Given the description of an element on the screen output the (x, y) to click on. 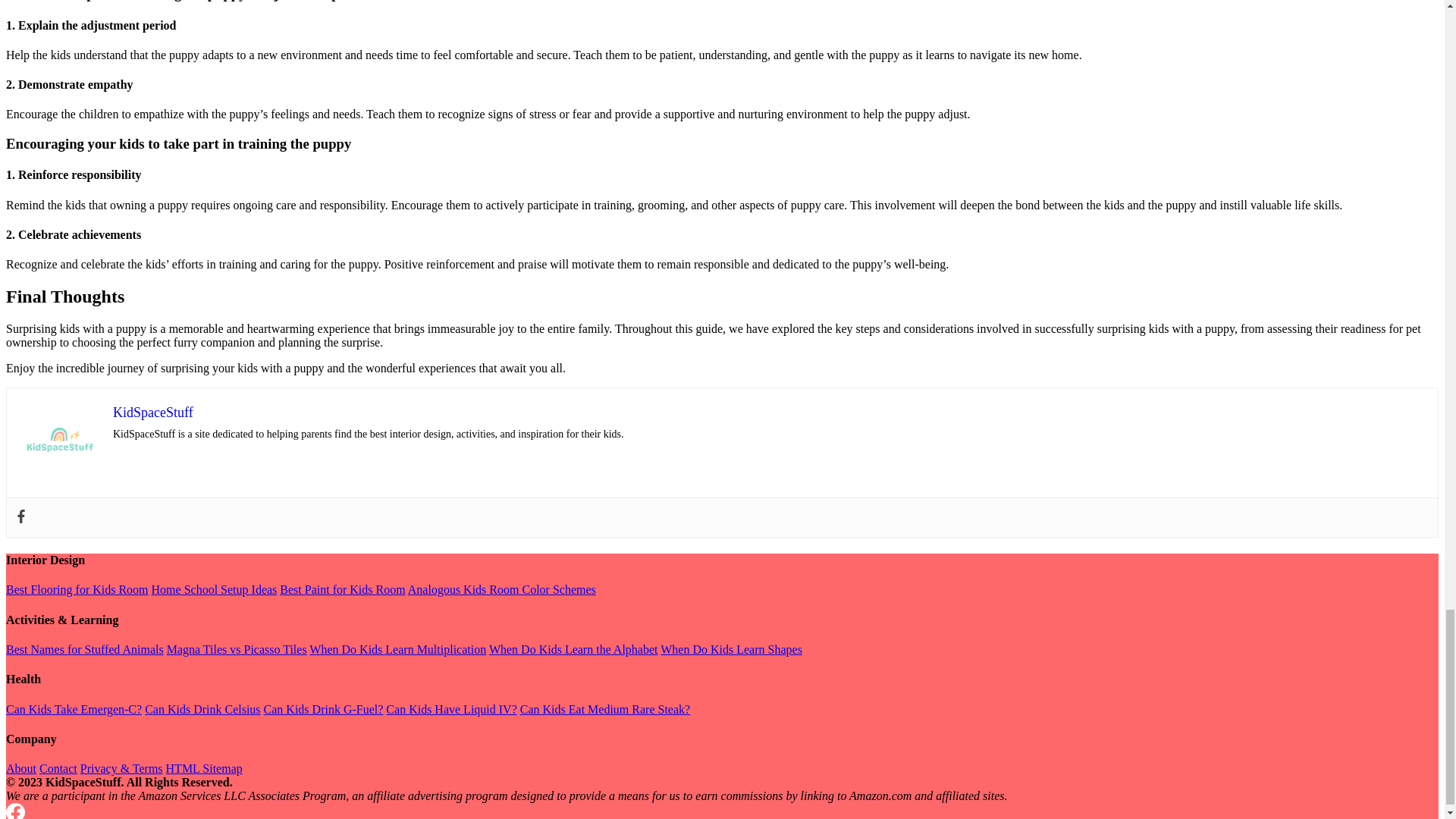
Can Kids Take Emergen-C? (73, 708)
Magna Tiles vs Picasso Tiles (237, 649)
Analogous Kids Room Color Schemes (501, 589)
Best Names for Stuffed Animals (84, 649)
When Do Kids Learn Multiplication (397, 649)
Best Paint for Kids Room (341, 589)
Best Flooring for Kids Room (76, 589)
When Do Kids Learn Shapes (731, 649)
When Do Kids Learn the Alphabet (573, 649)
Can Kids Drink Celsius (202, 708)
